Given the description of an element on the screen output the (x, y) to click on. 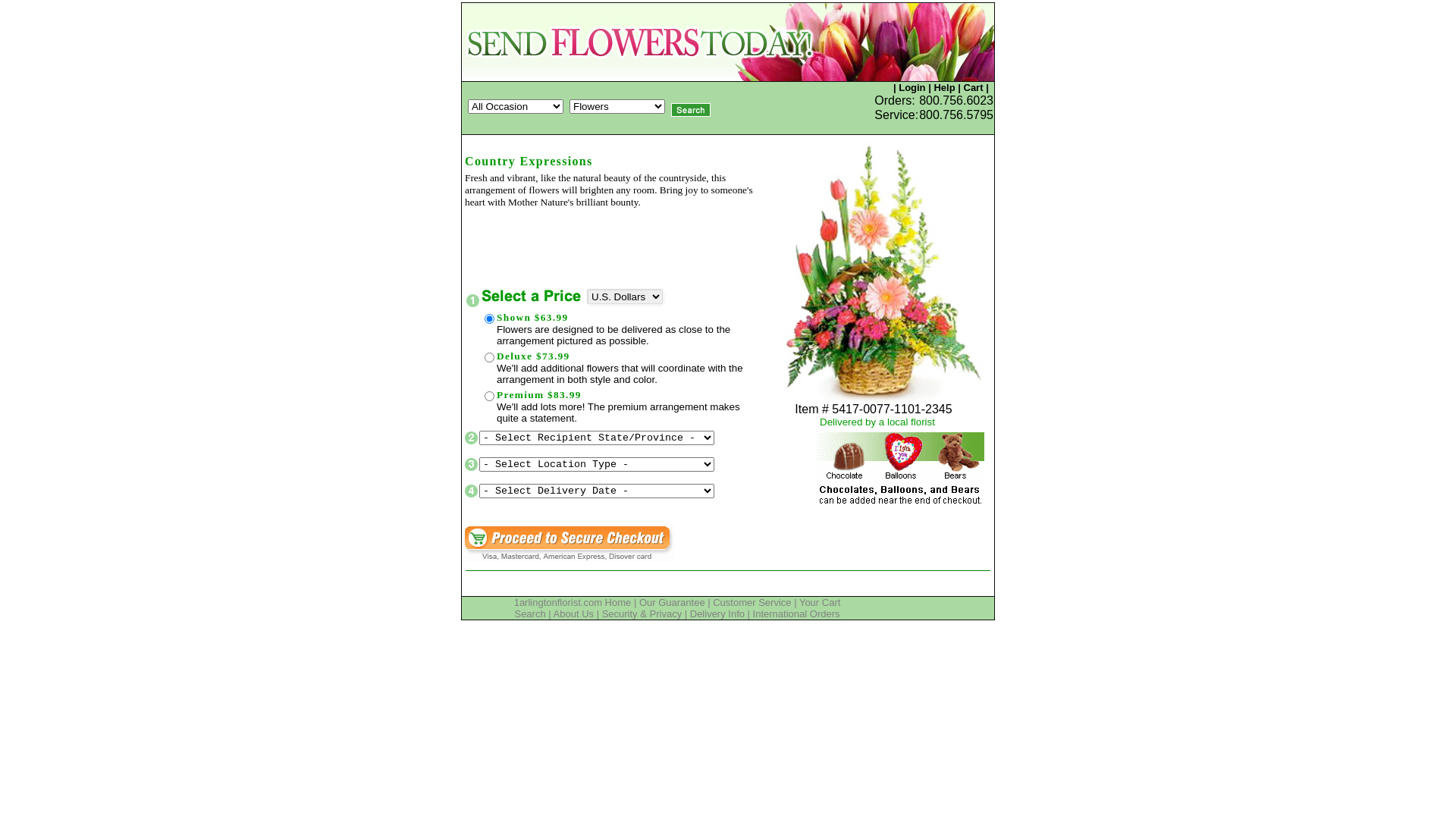
Security & Privacy Element type: text (641, 613)
Your Cart Element type: text (819, 602)
About Us Element type: text (573, 613)
Cart Element type: text (972, 87)
Help Element type: text (943, 87)
Delivery Info Element type: text (717, 613)
1arlingtonflorist.com Home Element type: text (572, 602)
Login Element type: text (911, 87)
International Orders Element type: text (796, 613)
Our Guarantee Element type: text (672, 602)
Customer Service Element type: text (751, 602)
Search Element type: text (529, 613)
